Given the description of an element on the screen output the (x, y) to click on. 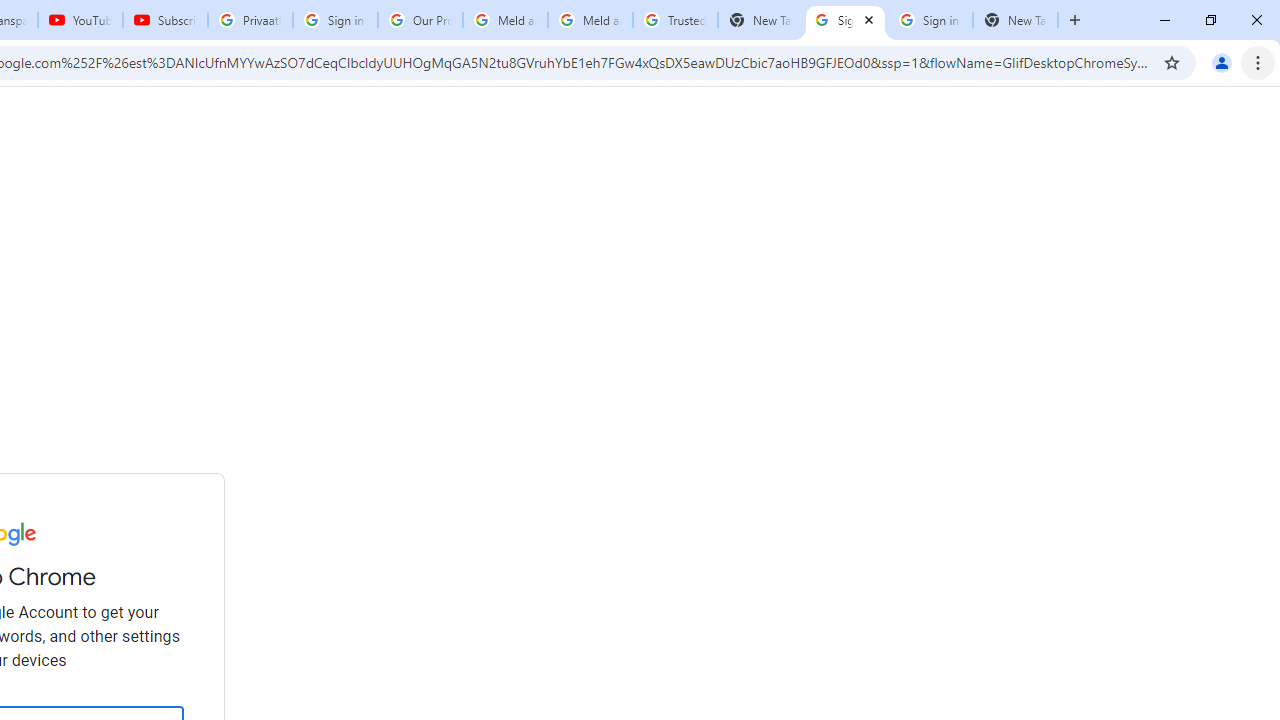
New Tab (760, 20)
Sign in - Google Accounts (930, 20)
Sign in - Google Accounts (845, 20)
Sign in - Google Accounts (335, 20)
New Tab (1015, 20)
